Given the description of an element on the screen output the (x, y) to click on. 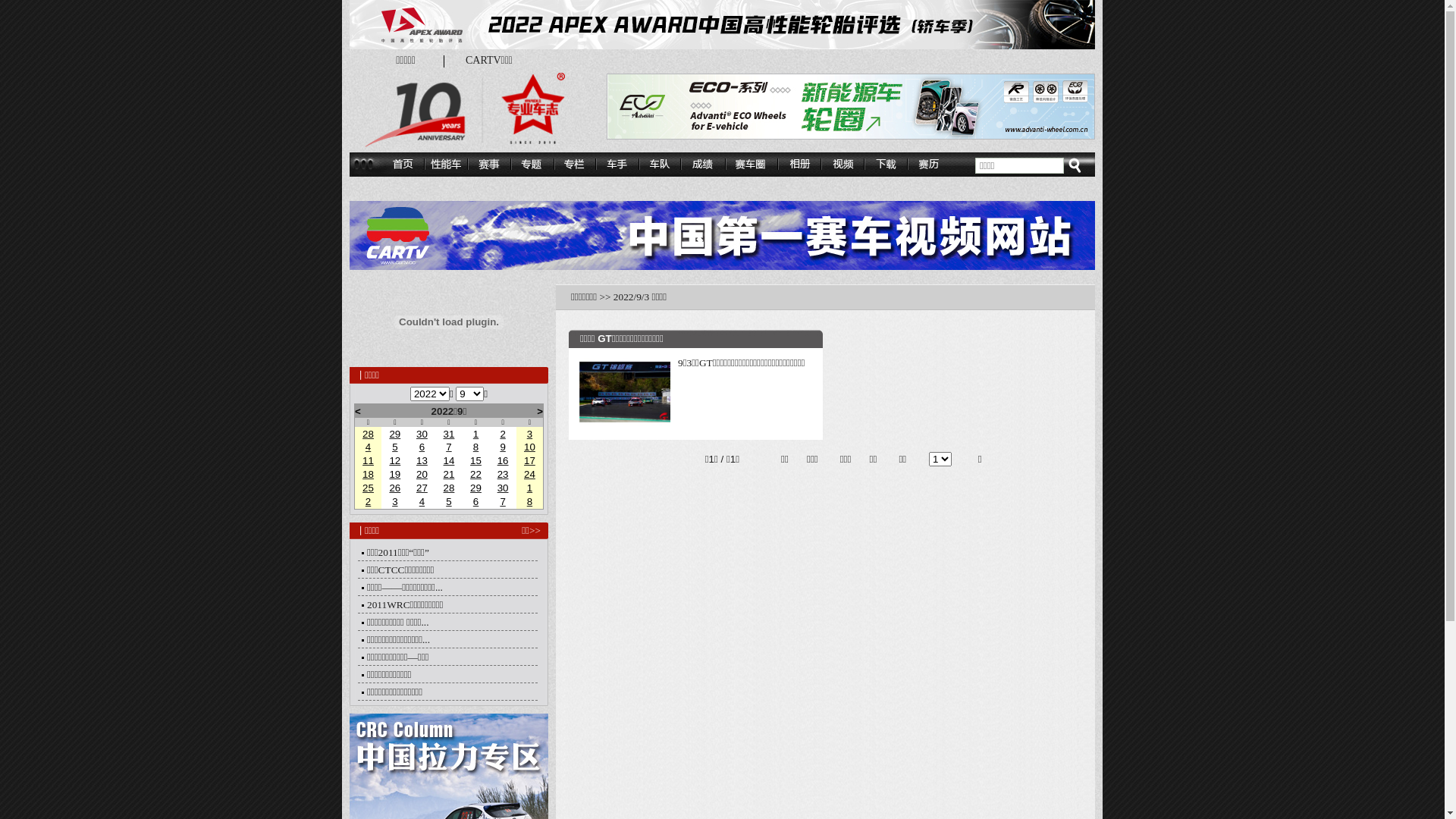
25 Element type: text (367, 487)
16 Element type: text (502, 460)
30 Element type: text (421, 433)
19 Element type: text (394, 474)
11 Element type: text (367, 460)
2 Element type: text (367, 501)
31 Element type: text (449, 433)
13 Element type: text (421, 460)
17 Element type: text (529, 460)
1 Element type: text (529, 487)
26 Element type: text (394, 487)
3 Element type: text (394, 501)
15 Element type: text (475, 460)
12 Element type: text (394, 460)
22 Element type: text (475, 474)
5 Element type: text (448, 501)
7 Element type: text (448, 446)
24 Element type: text (529, 474)
> Element type: text (539, 411)
29 Element type: text (475, 487)
30 Element type: text (502, 487)
9 Element type: text (502, 446)
23 Element type: text (502, 474)
14 Element type: text (449, 460)
4 Element type: text (421, 501)
7 Element type: text (502, 501)
18 Element type: text (367, 474)
1 Element type: text (475, 433)
6 Element type: text (475, 501)
28 Element type: text (367, 433)
2 Element type: text (502, 433)
6 Element type: text (421, 446)
5 Element type: text (394, 446)
28 Element type: text (449, 487)
3 Element type: text (529, 433)
27 Element type: text (421, 487)
21 Element type: text (449, 474)
8 Element type: text (529, 501)
4 Element type: text (367, 446)
< Element type: text (357, 411)
10 Element type: text (529, 446)
20 Element type: text (421, 474)
8 Element type: text (475, 446)
29 Element type: text (394, 433)
